Given the description of an element on the screen output the (x, y) to click on. 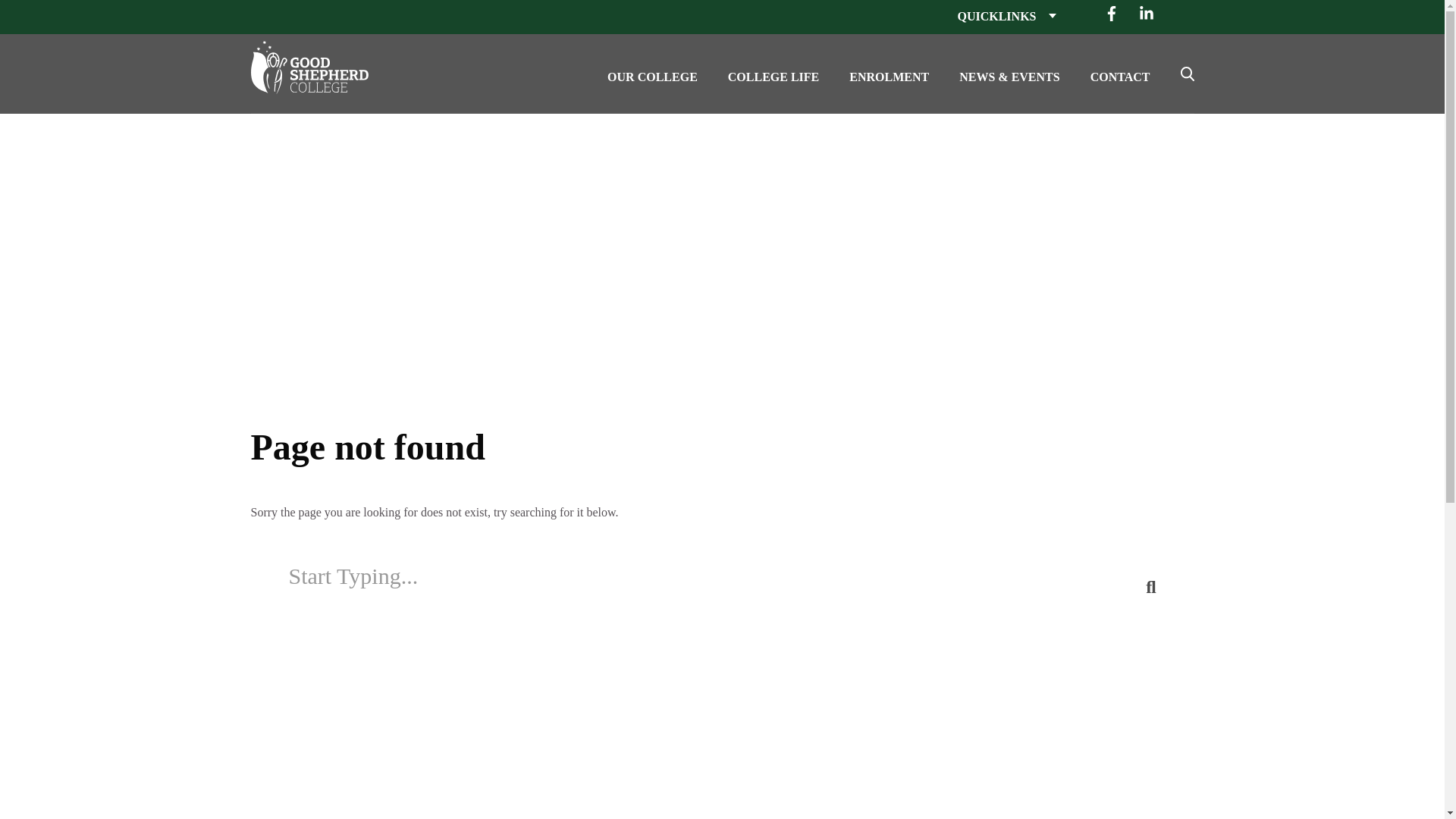
Back to Good Shepherd College Homepage (322, 64)
ENROLMENT (888, 73)
COLLEGE LIFE (773, 73)
CONTACT (1120, 73)
OUR COLLEGE (652, 73)
